Given the description of an element on the screen output the (x, y) to click on. 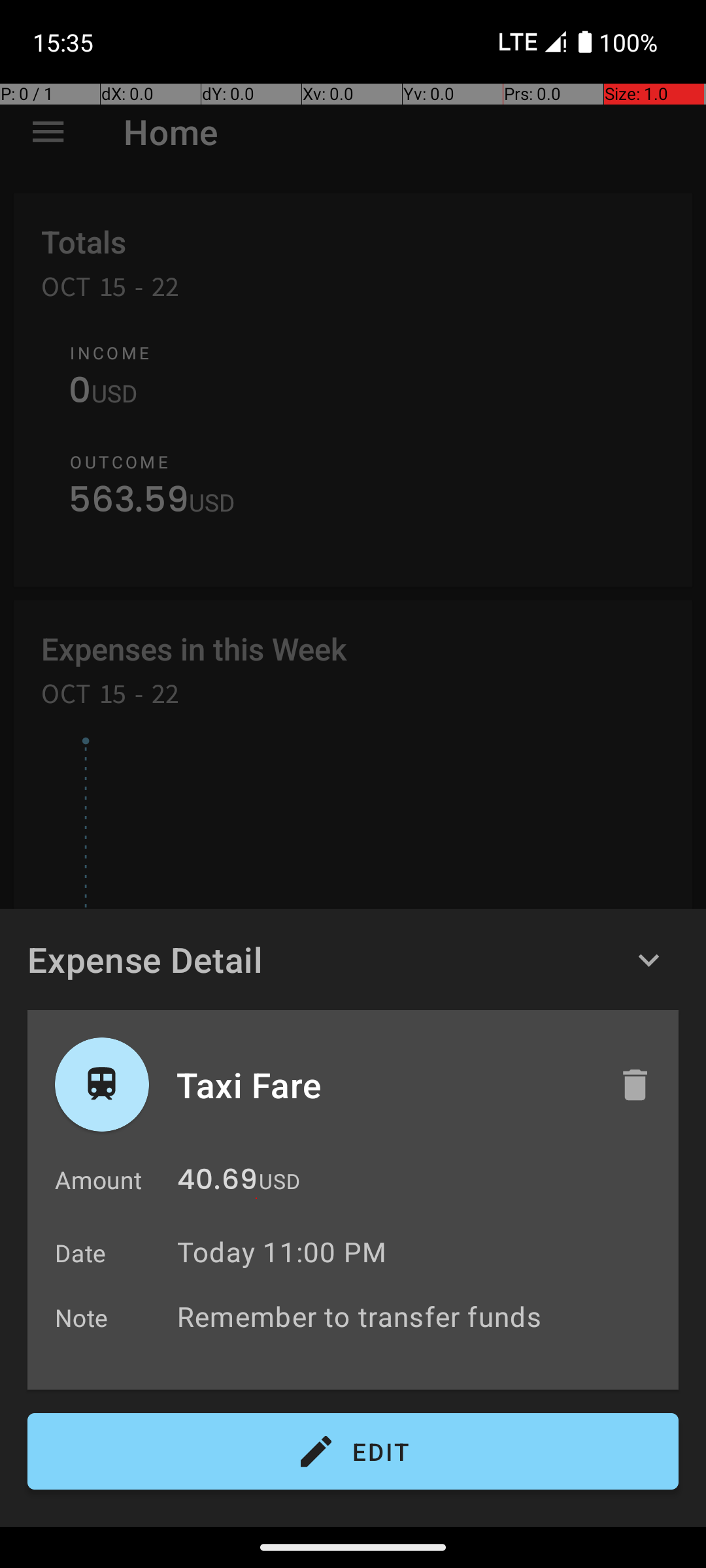
Taxi Fare Element type: android.widget.TextView (383, 1084)
40.69 Element type: android.widget.TextView (217, 1182)
